Given the description of an element on the screen output the (x, y) to click on. 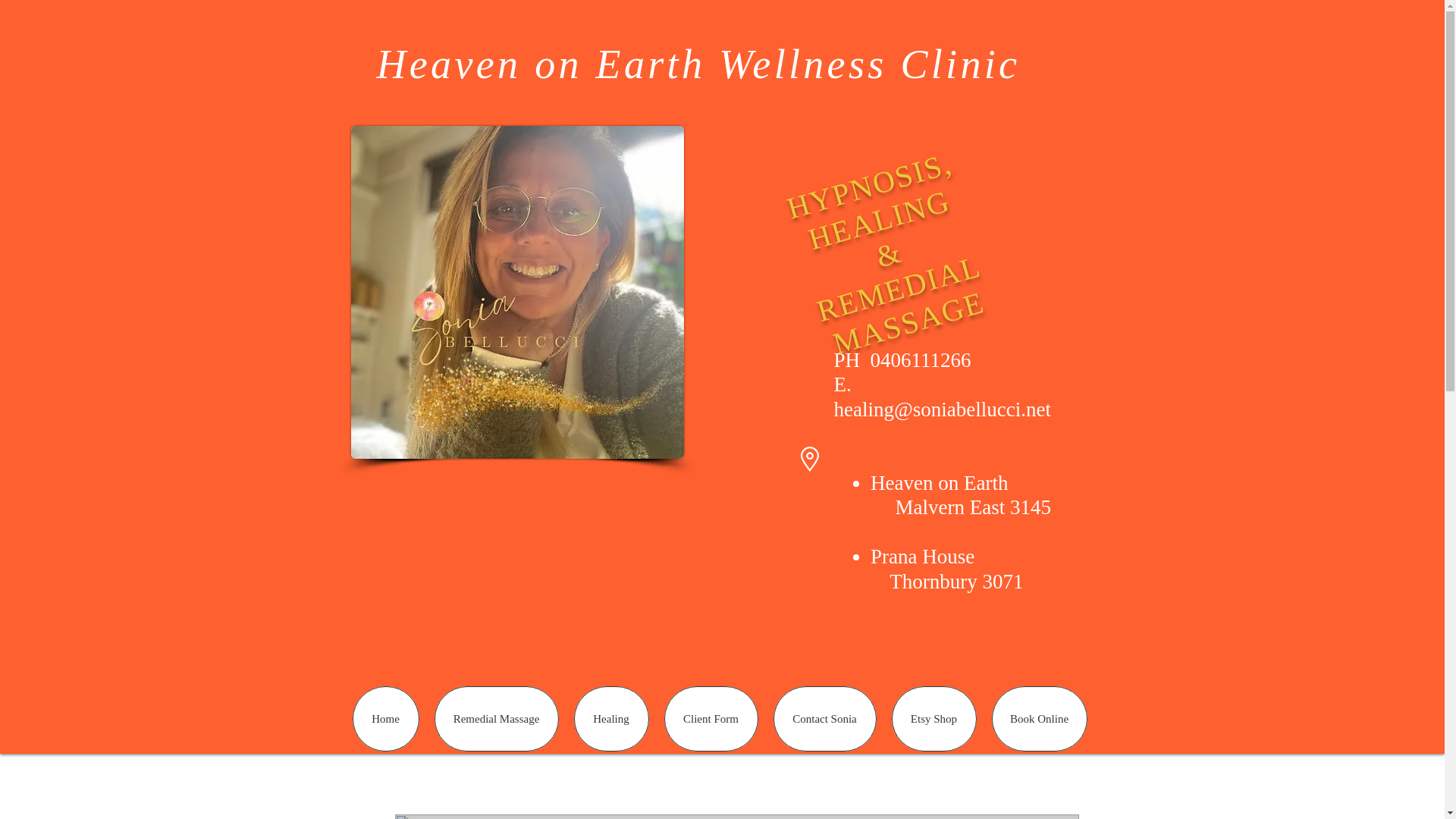
Healing (610, 718)
Home (385, 718)
Client Form (710, 718)
Book Online (1039, 718)
Remedial Massage (495, 718)
Etsy Shop (933, 718)
Contact Sonia (824, 718)
